Given the description of an element on the screen output the (x, y) to click on. 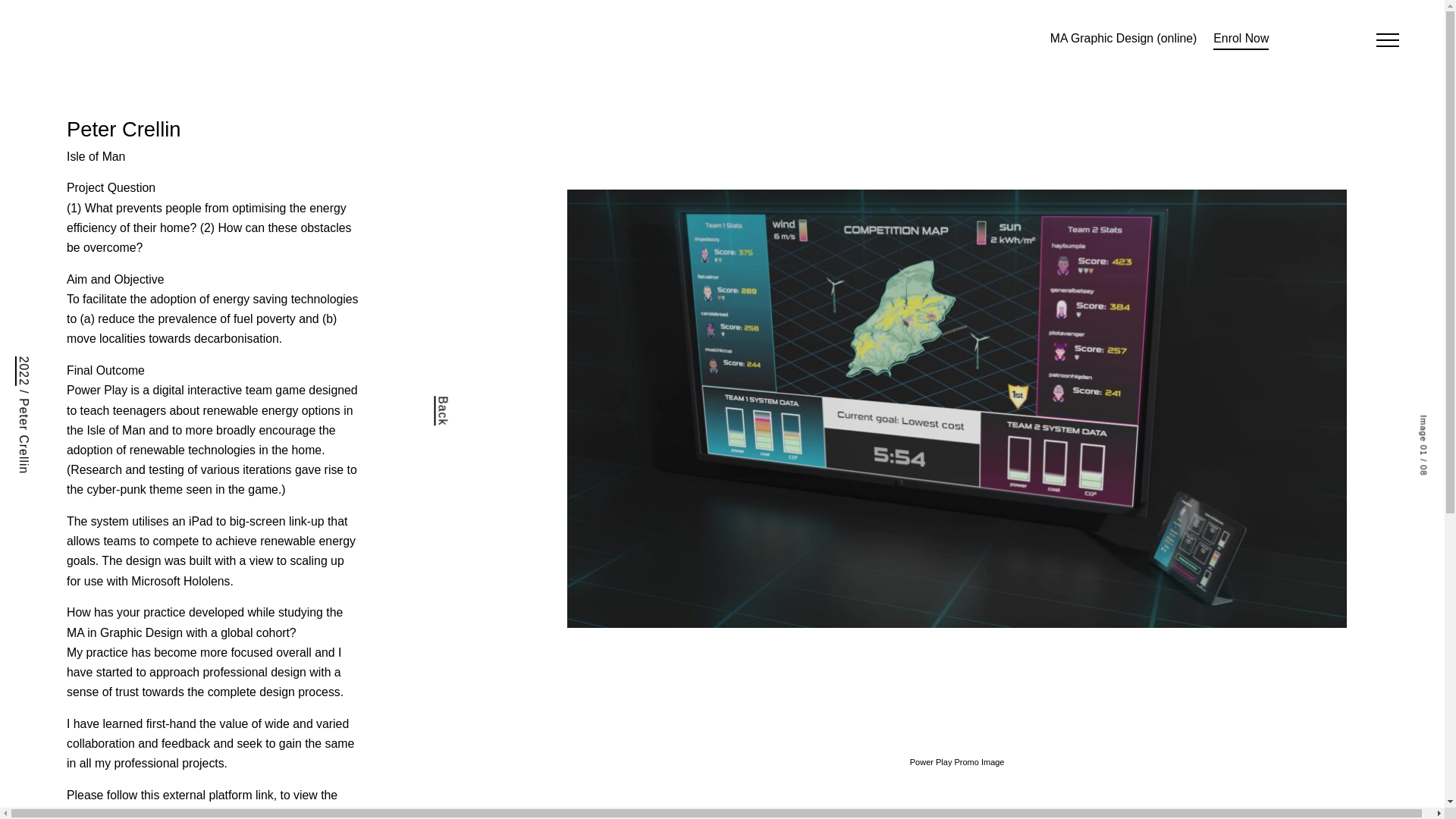
Enrol Now (1240, 38)
2022 (29, 363)
Back (448, 403)
